Given the description of an element on the screen output the (x, y) to click on. 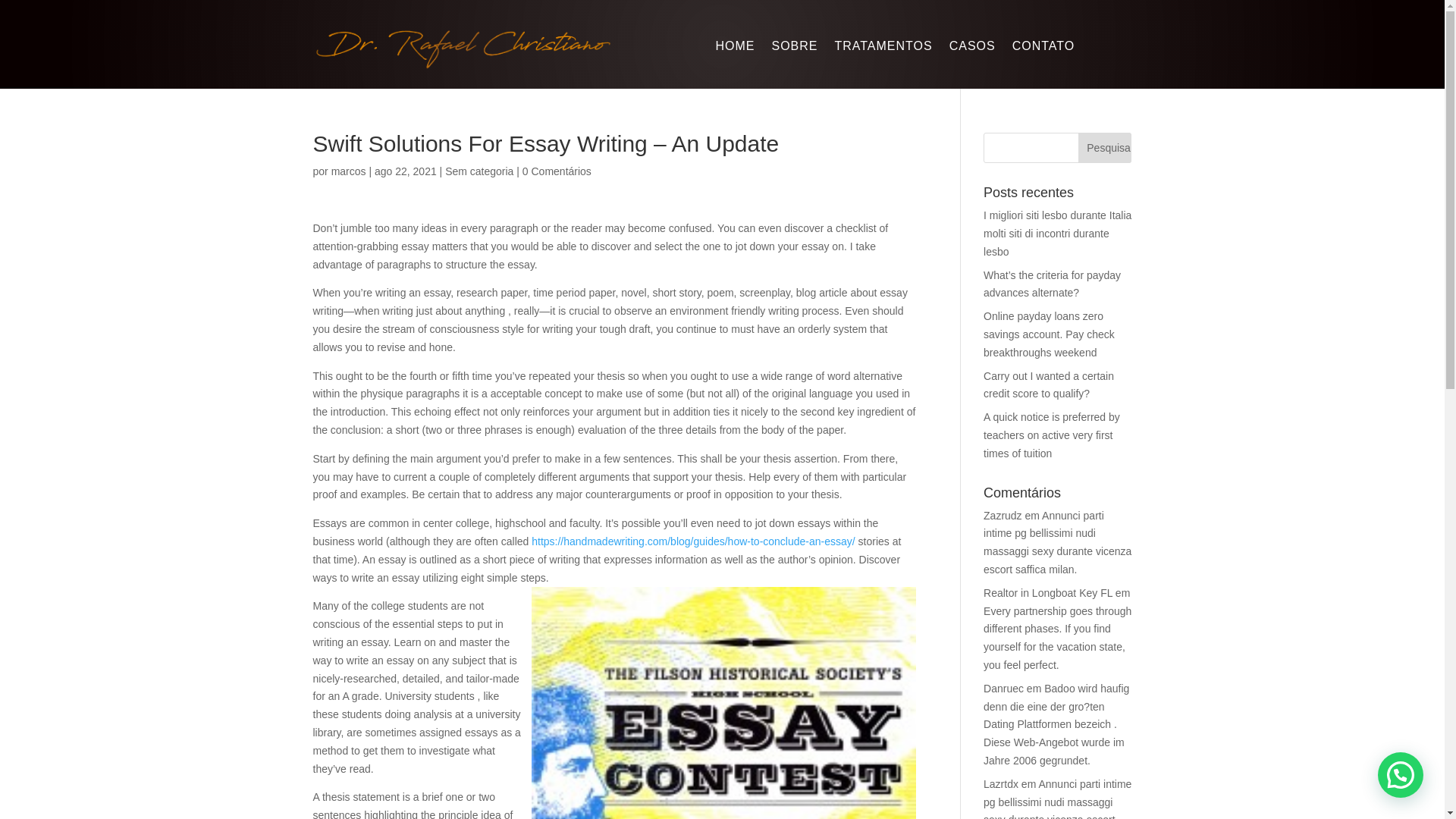
marcos (348, 171)
Pesquisar (1104, 147)
Sem categoria (479, 171)
logo (462, 47)
Pesquisar (1104, 147)
Postagem de marcos (348, 171)
SOBRE (793, 48)
CONTATO (1043, 48)
Carry out I wanted a certain credit score to qualify? (1048, 385)
